Given the description of an element on the screen output the (x, y) to click on. 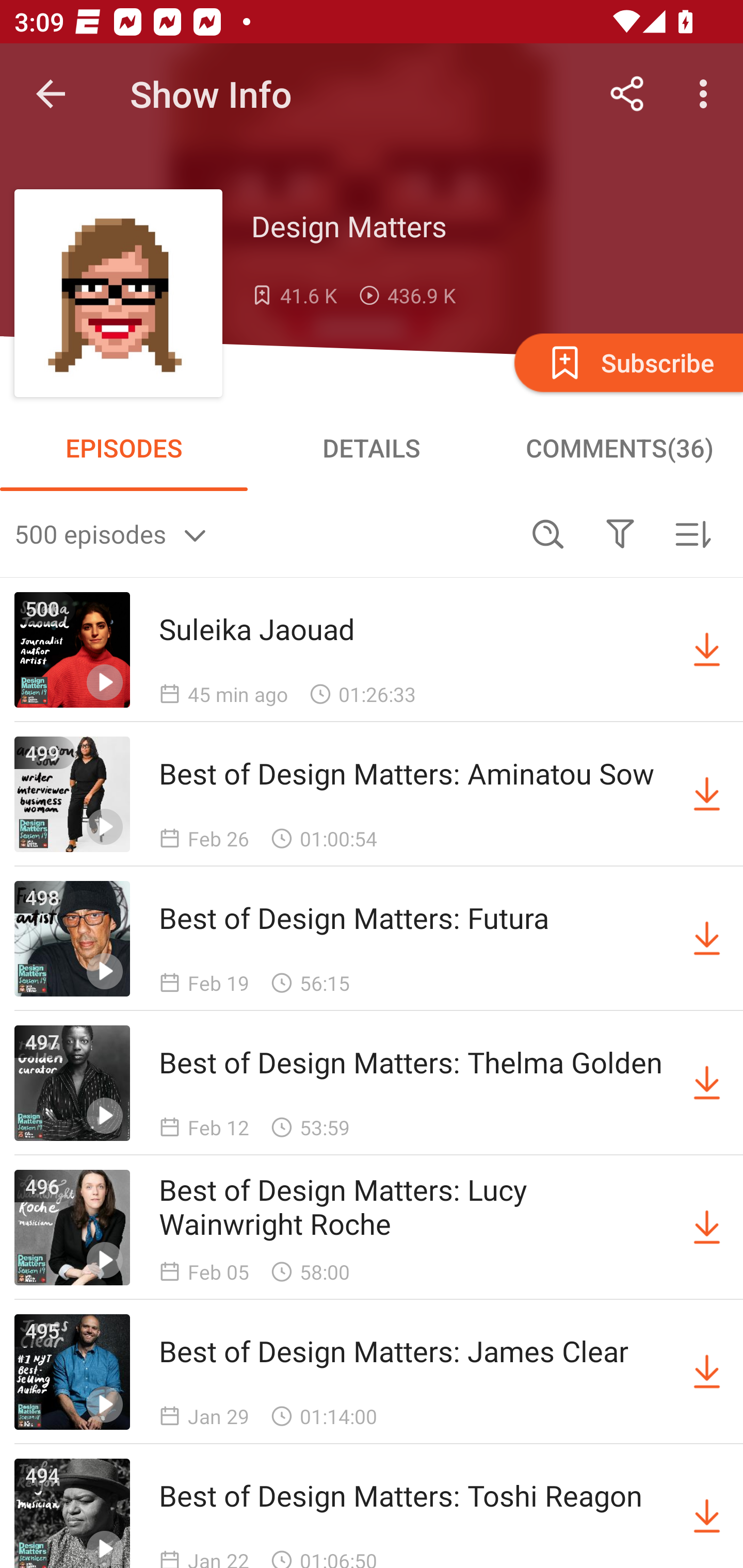
Navigate up (50, 93)
Share (626, 93)
More options (706, 93)
Subscribe (627, 361)
EPISODES (123, 447)
DETAILS (371, 447)
COMMENTS(36) (619, 447)
500 episodes  (262, 533)
 Search (547, 533)
 (619, 533)
 Sorted by newest first (692, 533)
Download (706, 649)
Download (706, 793)
Download (706, 939)
Download (706, 1083)
Download (706, 1227)
Download (706, 1371)
Download (706, 1513)
